Given the description of an element on the screen output the (x, y) to click on. 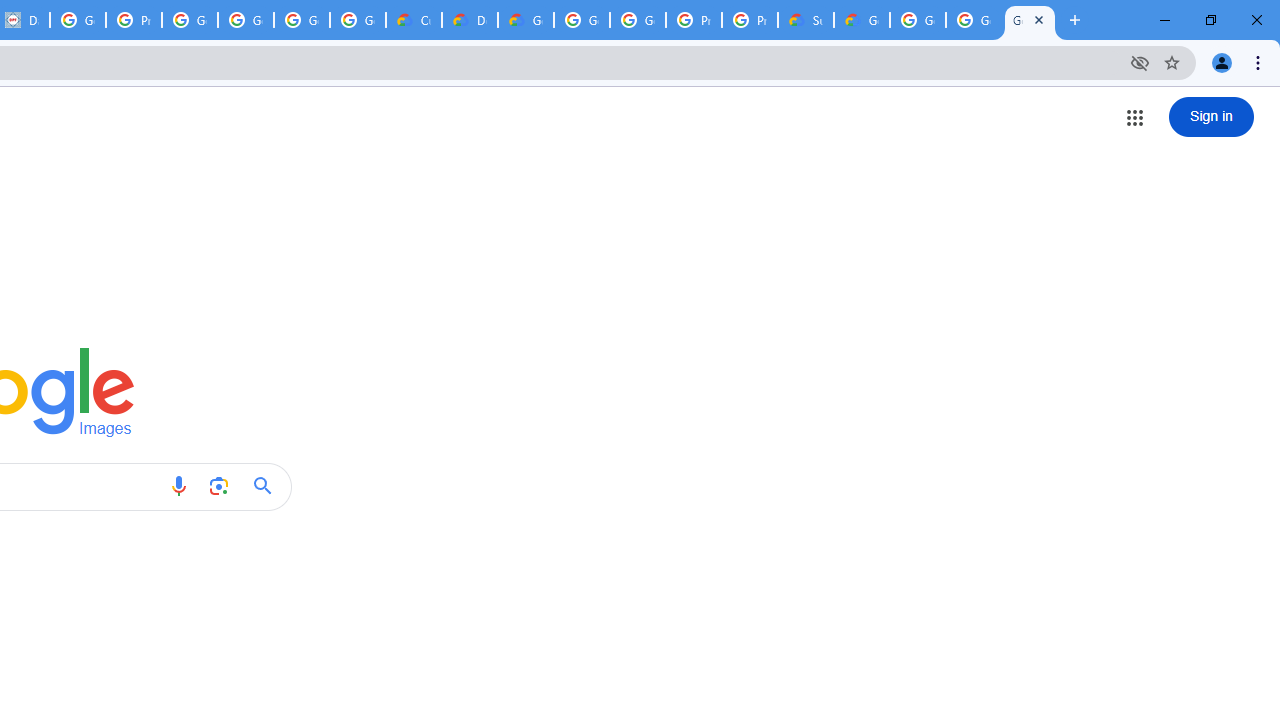
Google Search (268, 485)
Google Cloud Platform (582, 20)
Google Images (1030, 20)
Google Workspace - Specific Terms (301, 20)
